Given the description of an element on the screen output the (x, y) to click on. 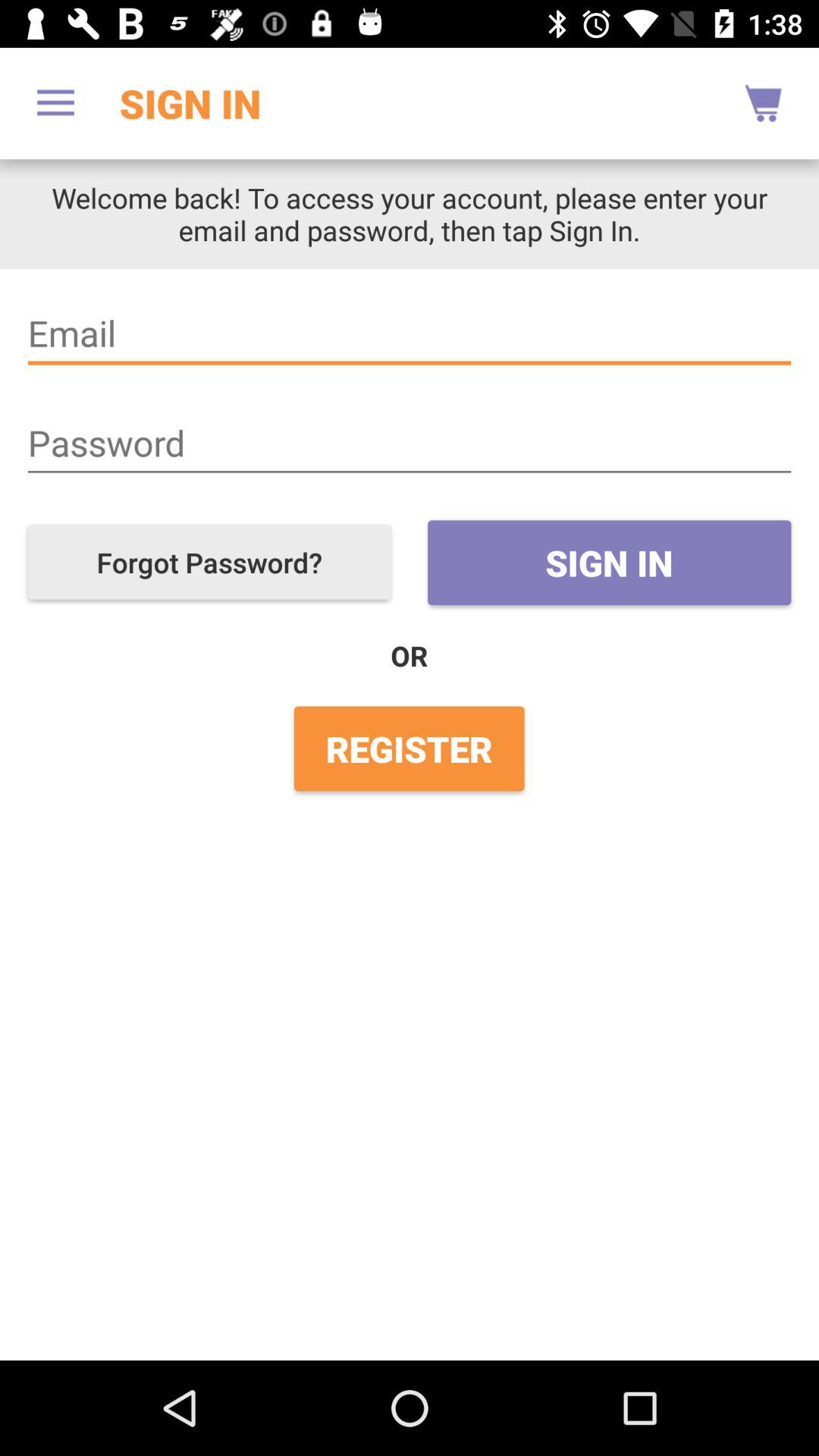
tap the icon to the left of sign in item (209, 562)
